Given the description of an element on the screen output the (x, y) to click on. 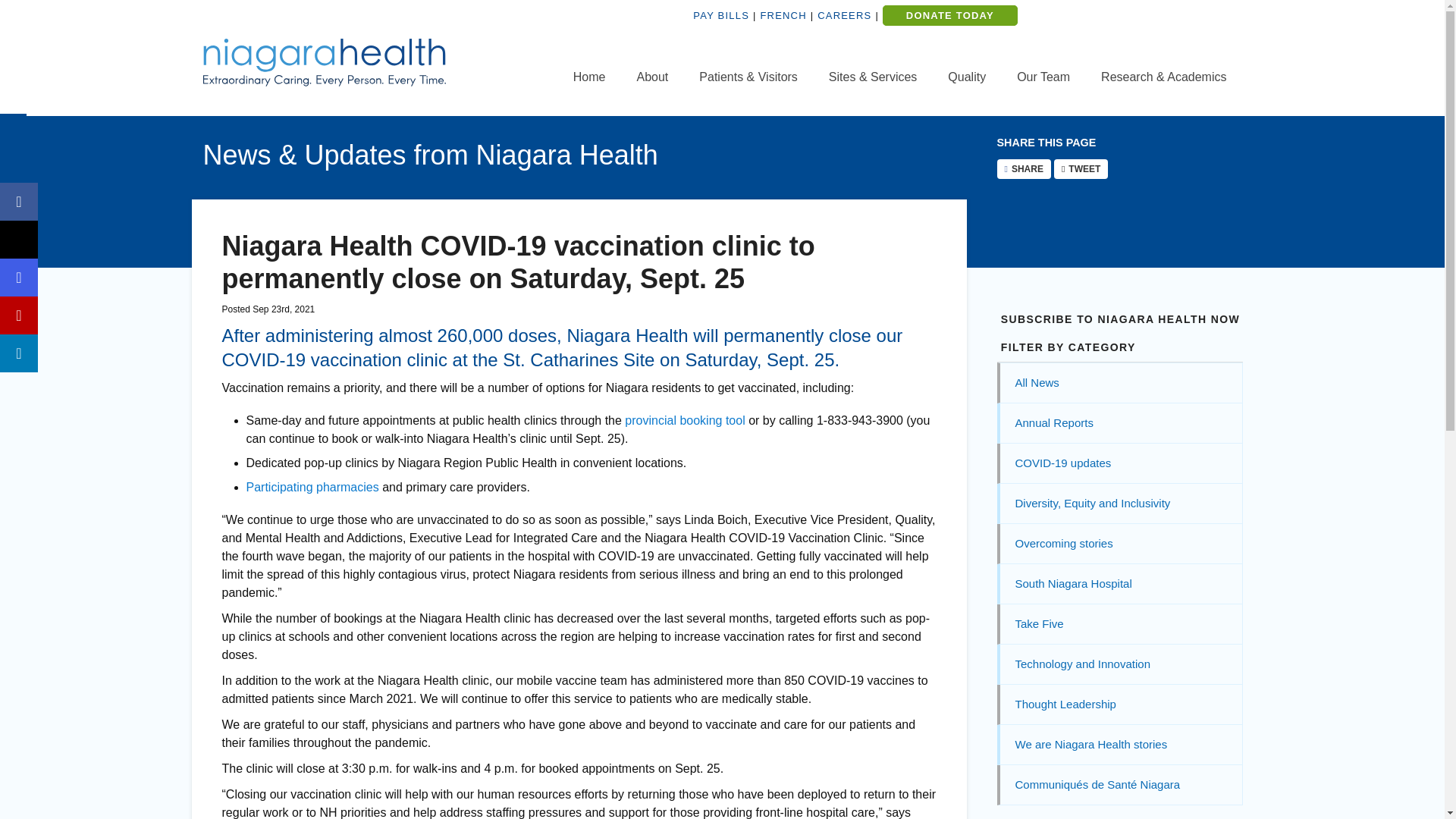
CAREERS (843, 15)
back to home (589, 77)
Home (589, 77)
PAY BILLS (721, 15)
Careers at Niagara Health (843, 15)
About Niagara Health System (652, 77)
DONATE TODAY (949, 14)
FRENCH (783, 15)
Donate today - Support Niagara Health Foundation (949, 14)
CONTACT (1179, 26)
